Given the description of an element on the screen output the (x, y) to click on. 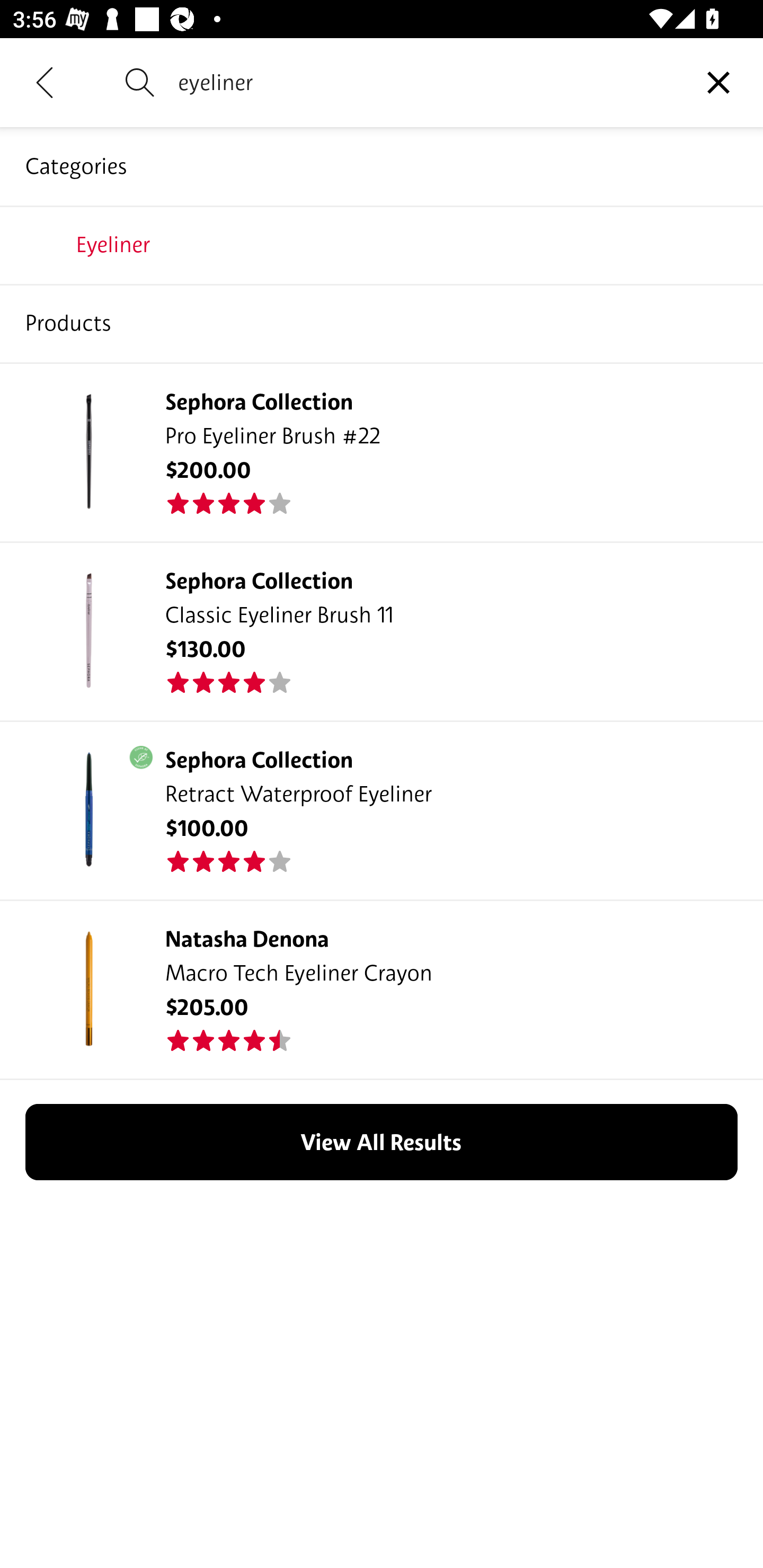
Navigate up (44, 82)
Clear query (718, 81)
eyeliner (425, 82)
rare beauty (381, 244)
sephora collection (381, 322)
View All Results (381, 1141)
